Given the description of an element on the screen output the (x, y) to click on. 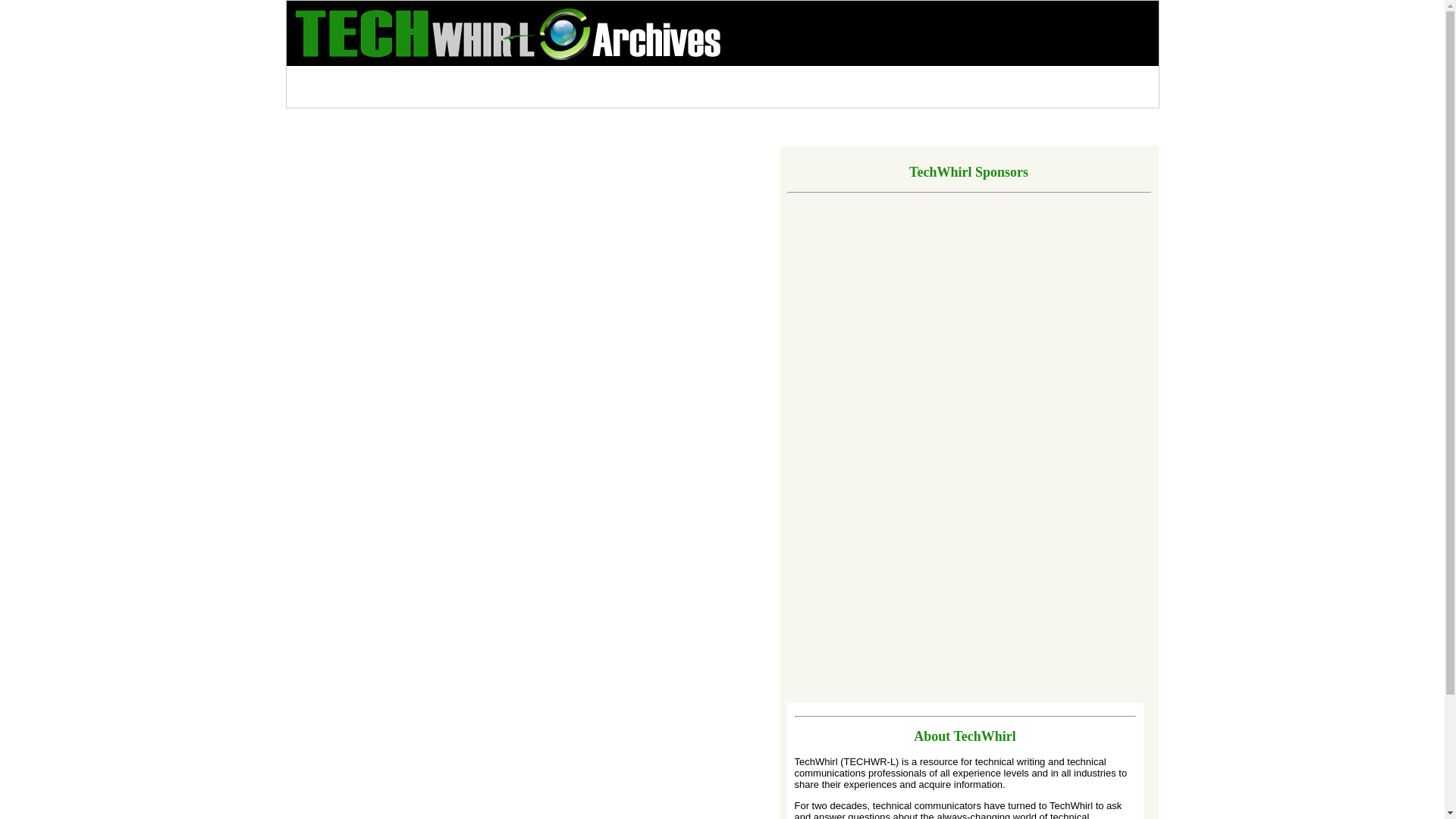
About Tech Writer List (675, 78)
FAQs (592, 78)
Join our List (323, 78)
TechWhirl Articles and Stories (816, 78)
Archive Search (405, 78)
Tech Comm Jobs (946, 78)
